Given the description of an element on the screen output the (x, y) to click on. 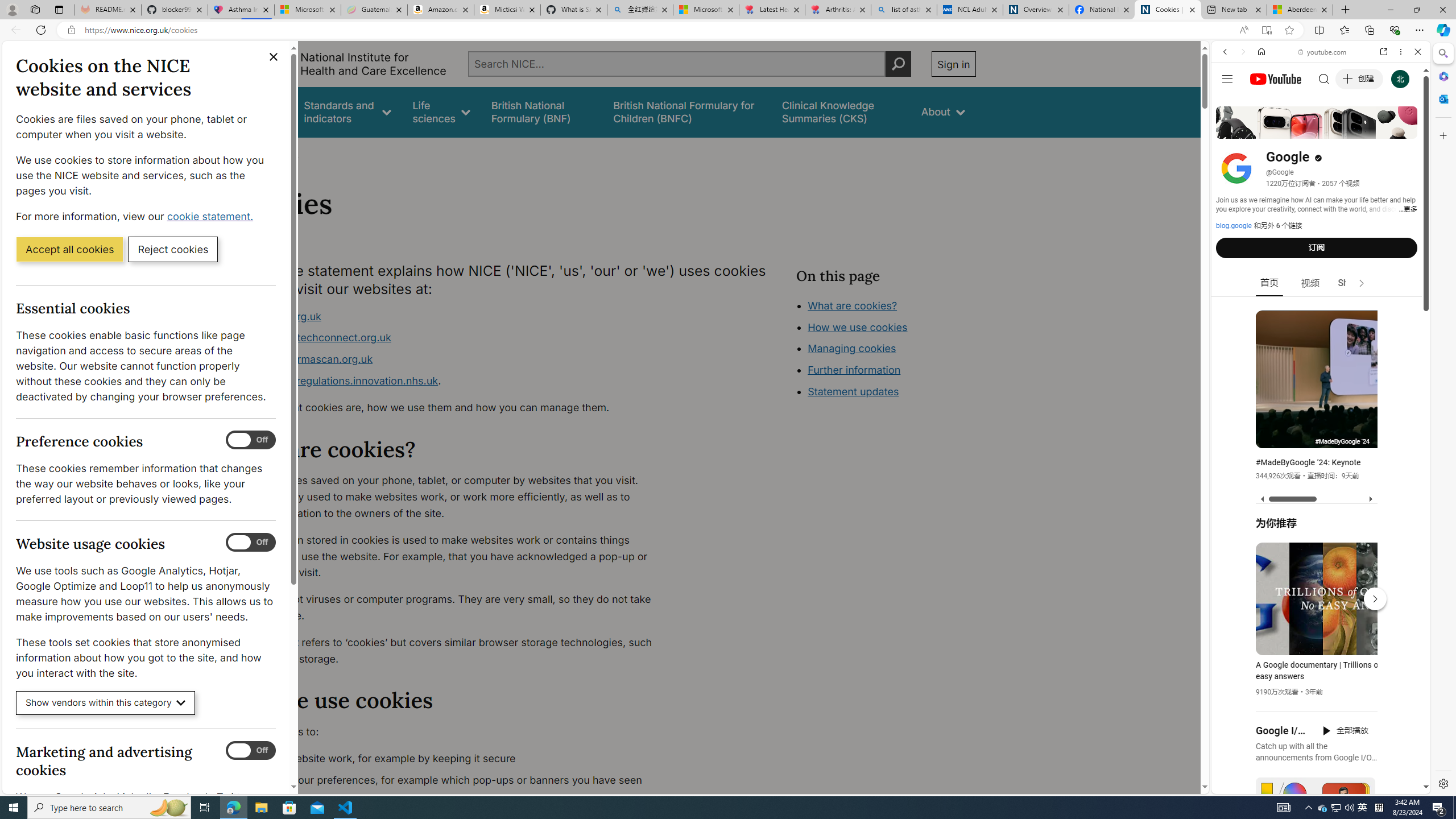
Trailer #2 [HD] (1320, 337)
Trailer #2 [HD] (1320, 336)
cookie statement. (Opens in a new window) (211, 215)
Music (1320, 309)
Music (1320, 309)
AutomationID: right (1361, 283)
